Given the description of an element on the screen output the (x, y) to click on. 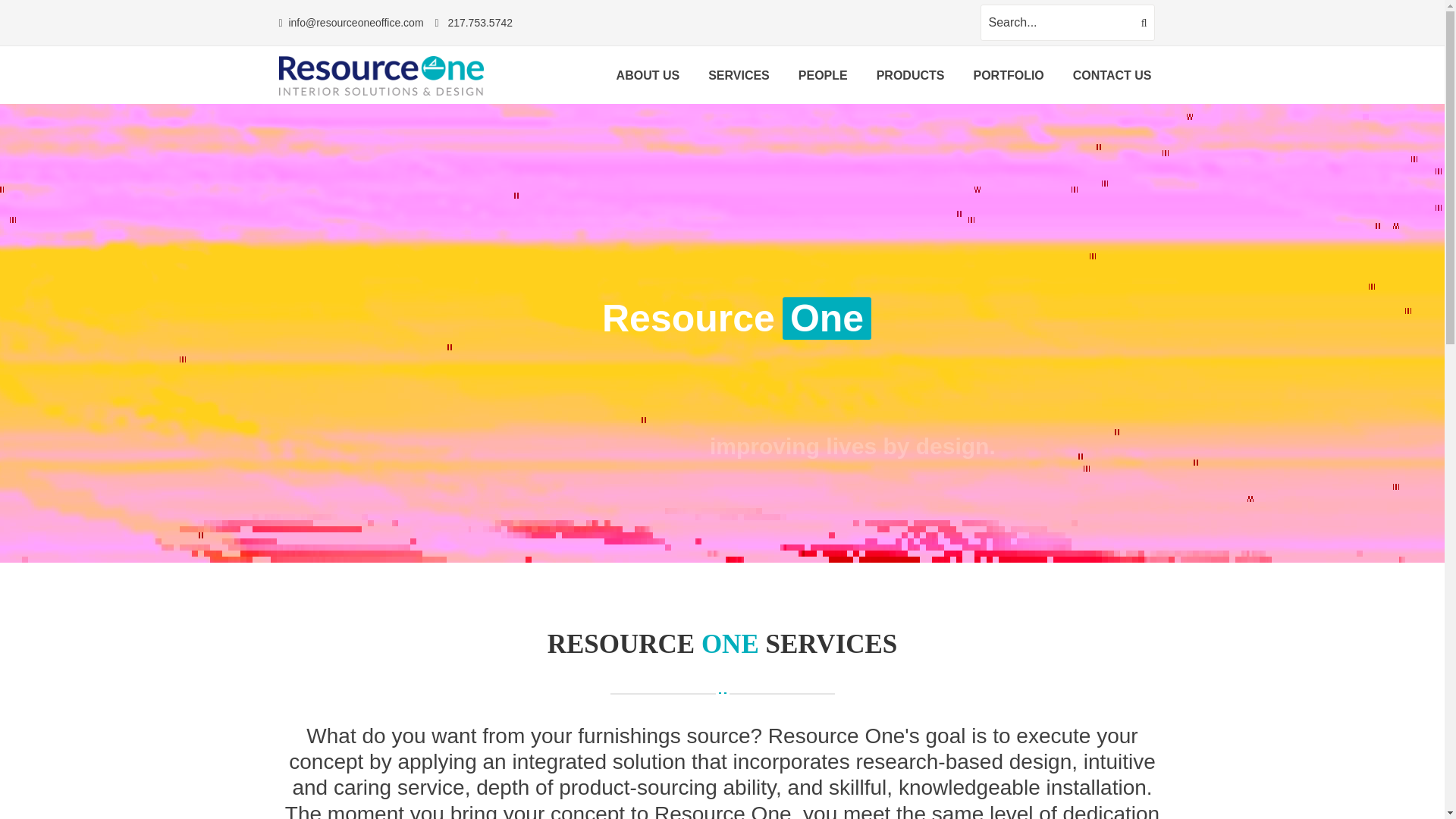
CONTACT US (1112, 75)
217.753.5742 (479, 22)
PRODUCTS (910, 75)
ABOUT US (648, 75)
PEOPLE (822, 75)
PORTFOLIO (1008, 75)
SERVICES (739, 75)
